Given the description of an element on the screen output the (x, y) to click on. 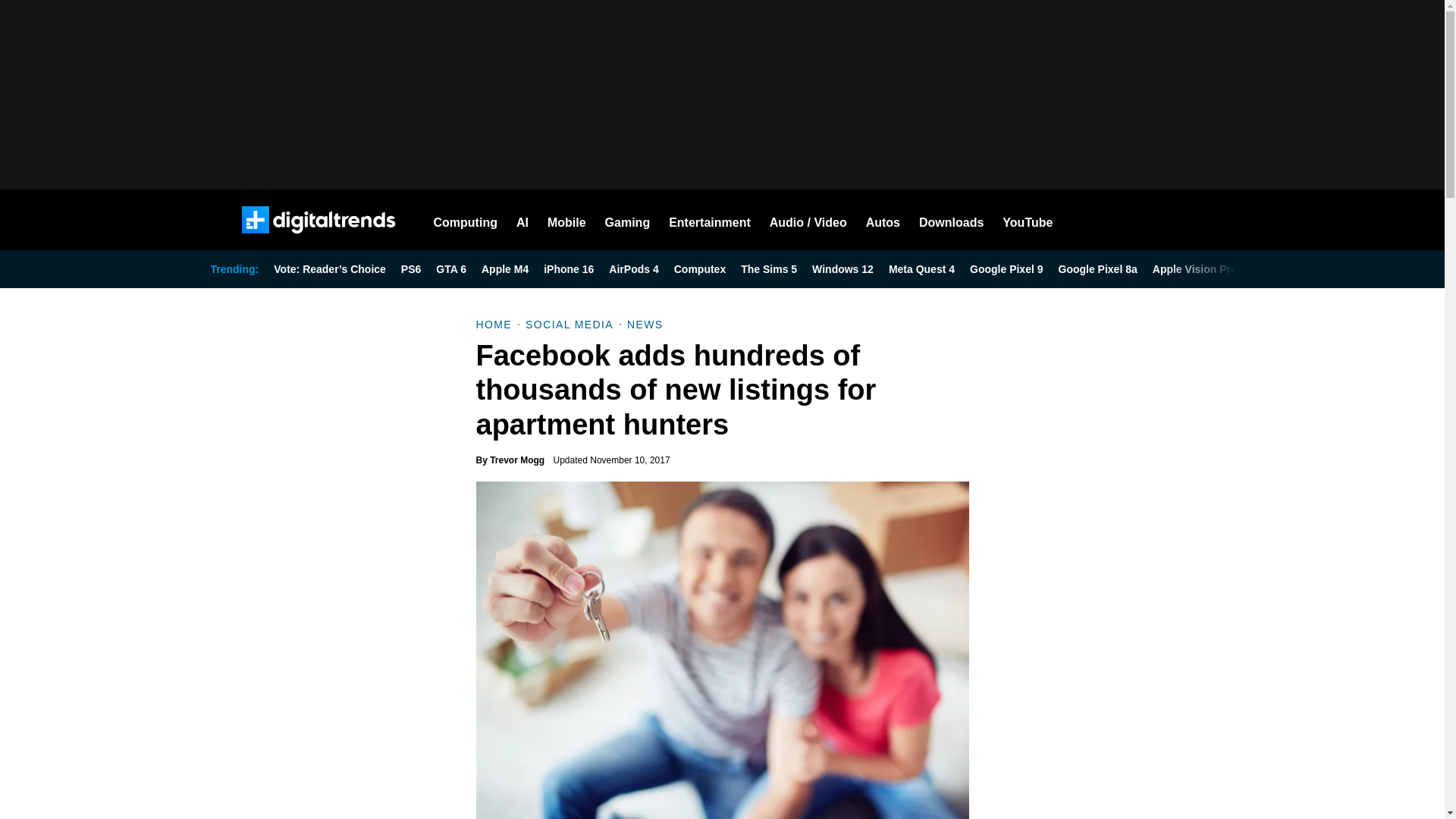
Entertainment (709, 219)
Downloads (951, 219)
Computing (465, 219)
